Given the description of an element on the screen output the (x, y) to click on. 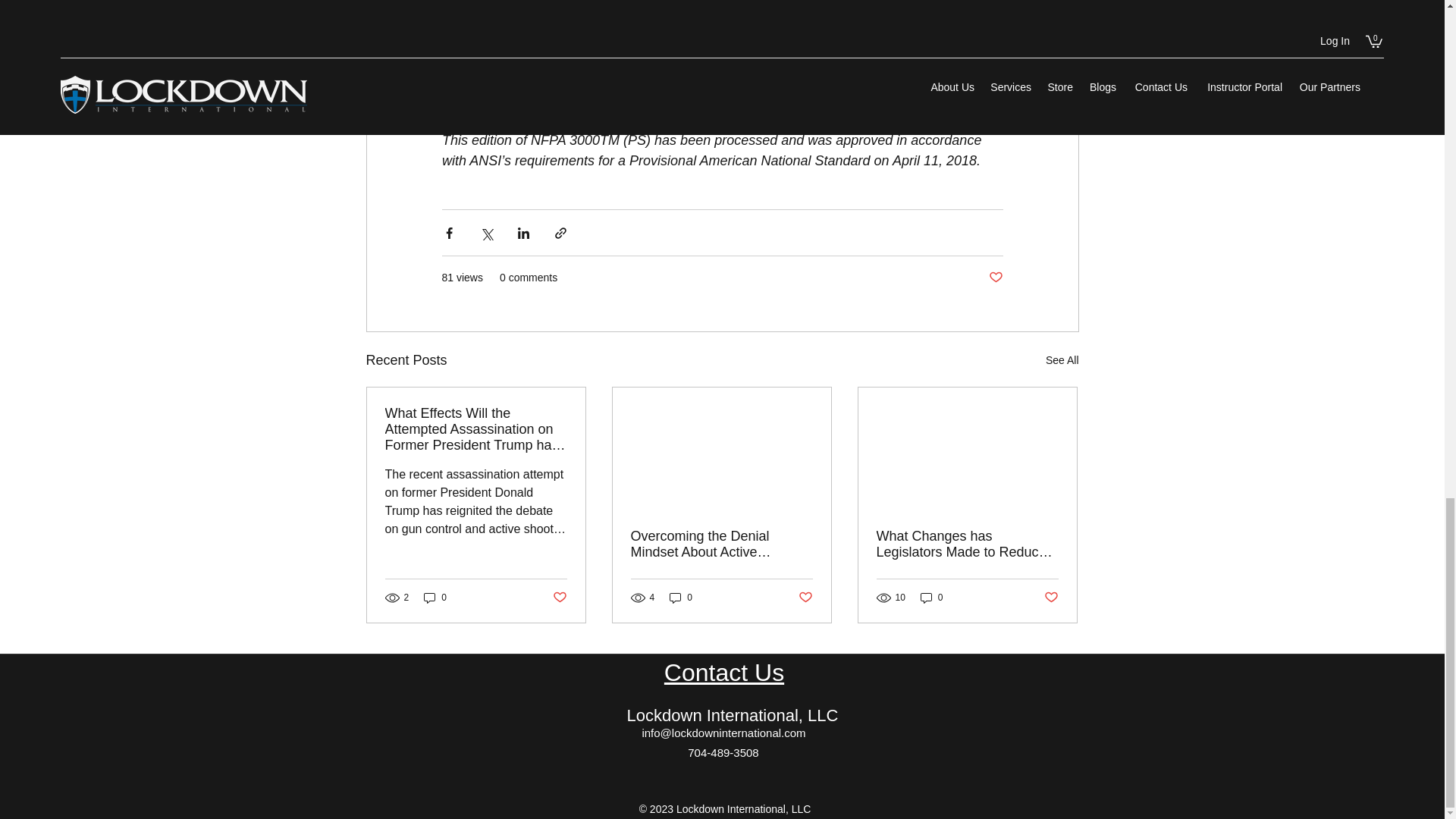
 Instructor Course. (785, 99)
Post not marked as liked (558, 597)
Contact Us (723, 672)
Overcoming the Denial Mindset About Active Shooters (721, 544)
0 (931, 597)
0 (681, 597)
Post not marked as liked (1050, 597)
Post not marked as liked (804, 597)
See All (1061, 360)
Post not marked as liked (995, 277)
Lockdown International, LLC (732, 714)
0 (435, 597)
